Given the description of an element on the screen output the (x, y) to click on. 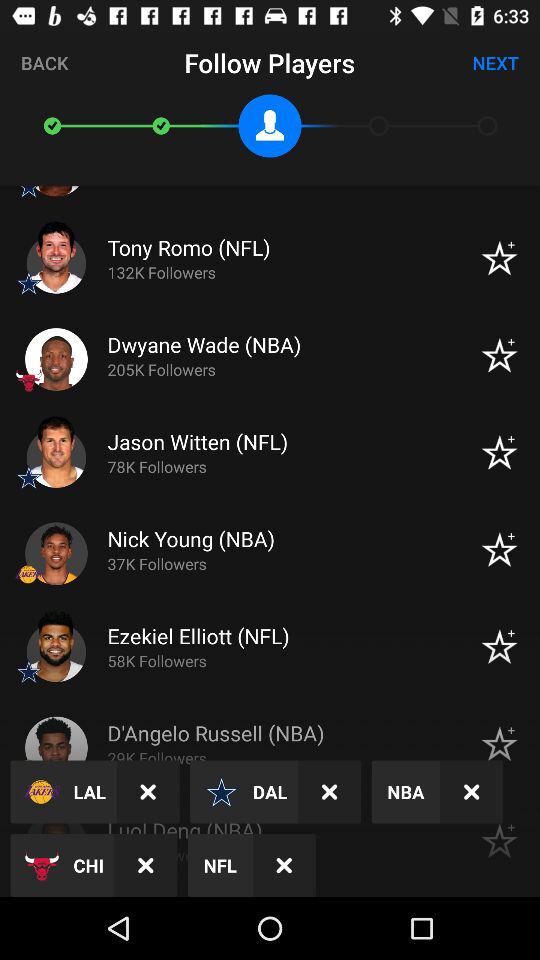
turn on item to the right of the chi icon (145, 864)
